Given the description of an element on the screen output the (x, y) to click on. 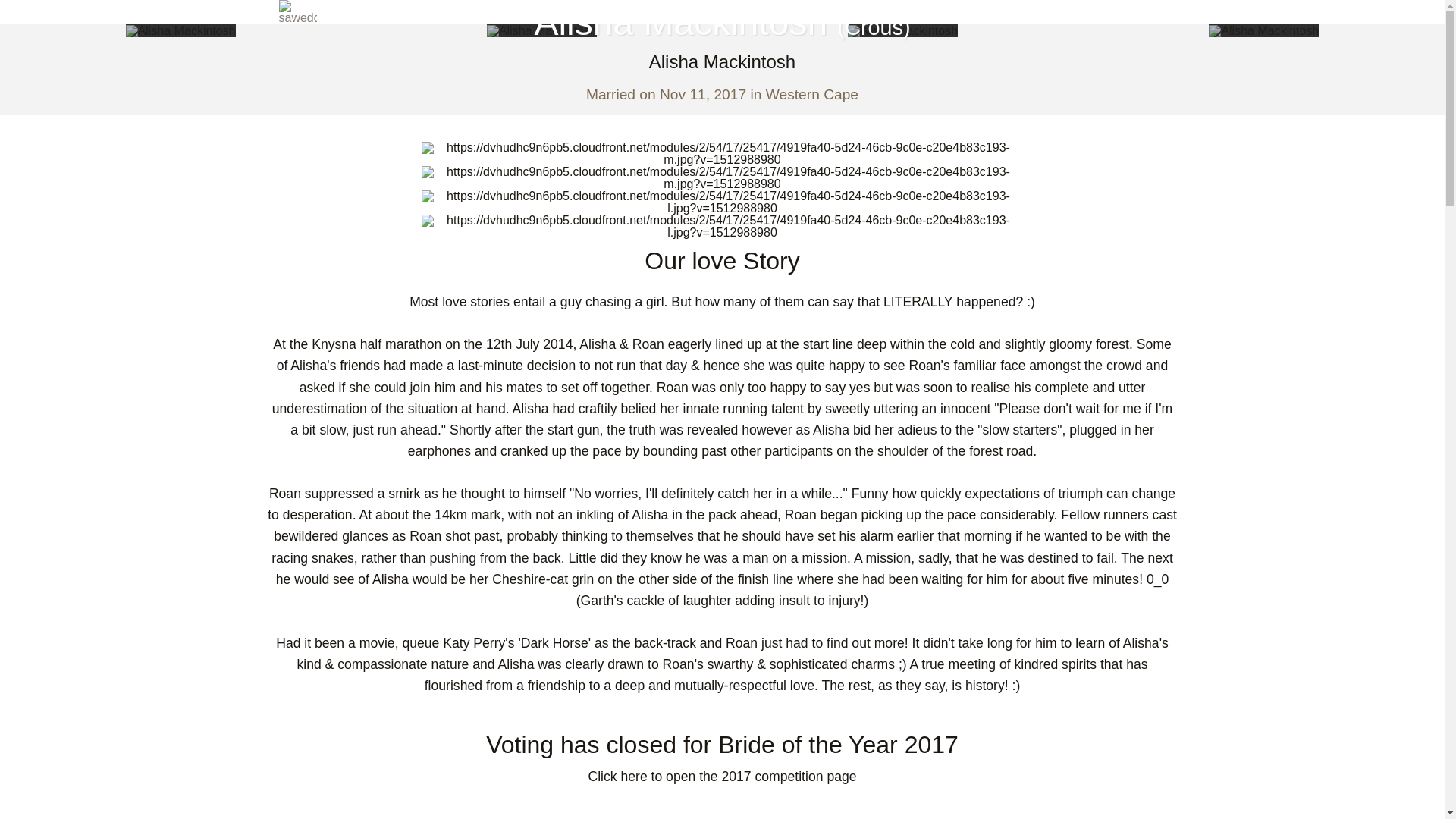
Alisha Mackintosh (902, 30)
Alisha Mackintosh (180, 30)
saweddings.co.za (309, 12)
Alisha Mackintosh (1263, 30)
saweddings.co.za (298, 12)
Alisha Mackintosh (541, 30)
